Given the description of an element on the screen output the (x, y) to click on. 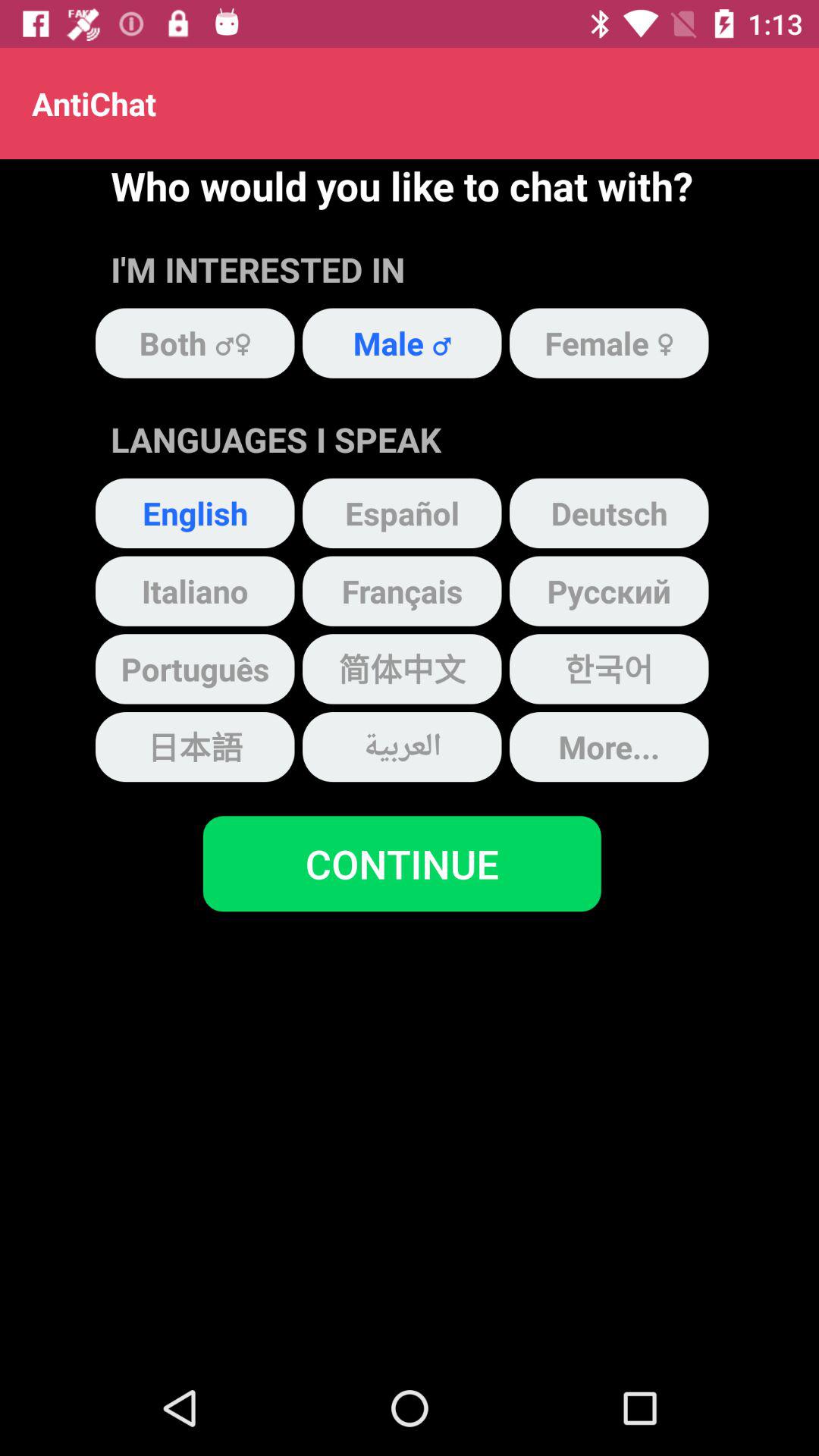
launch item above continue item (401, 747)
